Given the description of an element on the screen output the (x, y) to click on. 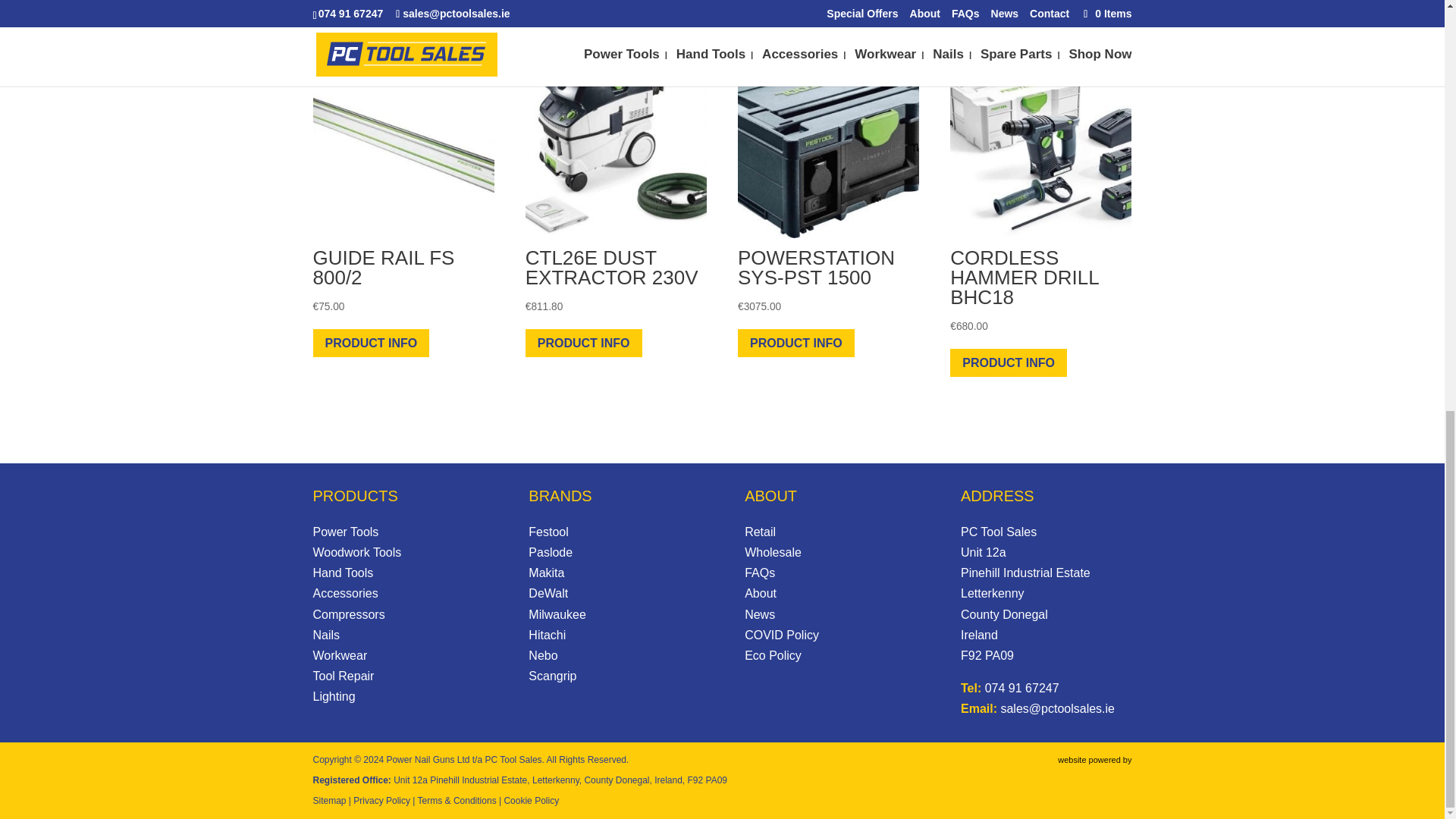
Makita (546, 572)
Paslode (550, 552)
Festool (547, 531)
PRODUCT INFO (371, 343)
Nails (326, 634)
Power Tools (345, 531)
Workwear (339, 655)
Tool Repair (343, 675)
Hand Tools (342, 572)
PRODUCT INFO (1008, 362)
Lighting (334, 696)
PRODUCT INFO (796, 343)
Compressors (348, 614)
PRODUCT INFO (583, 343)
Woodwork Tools (357, 552)
